Given the description of an element on the screen output the (x, y) to click on. 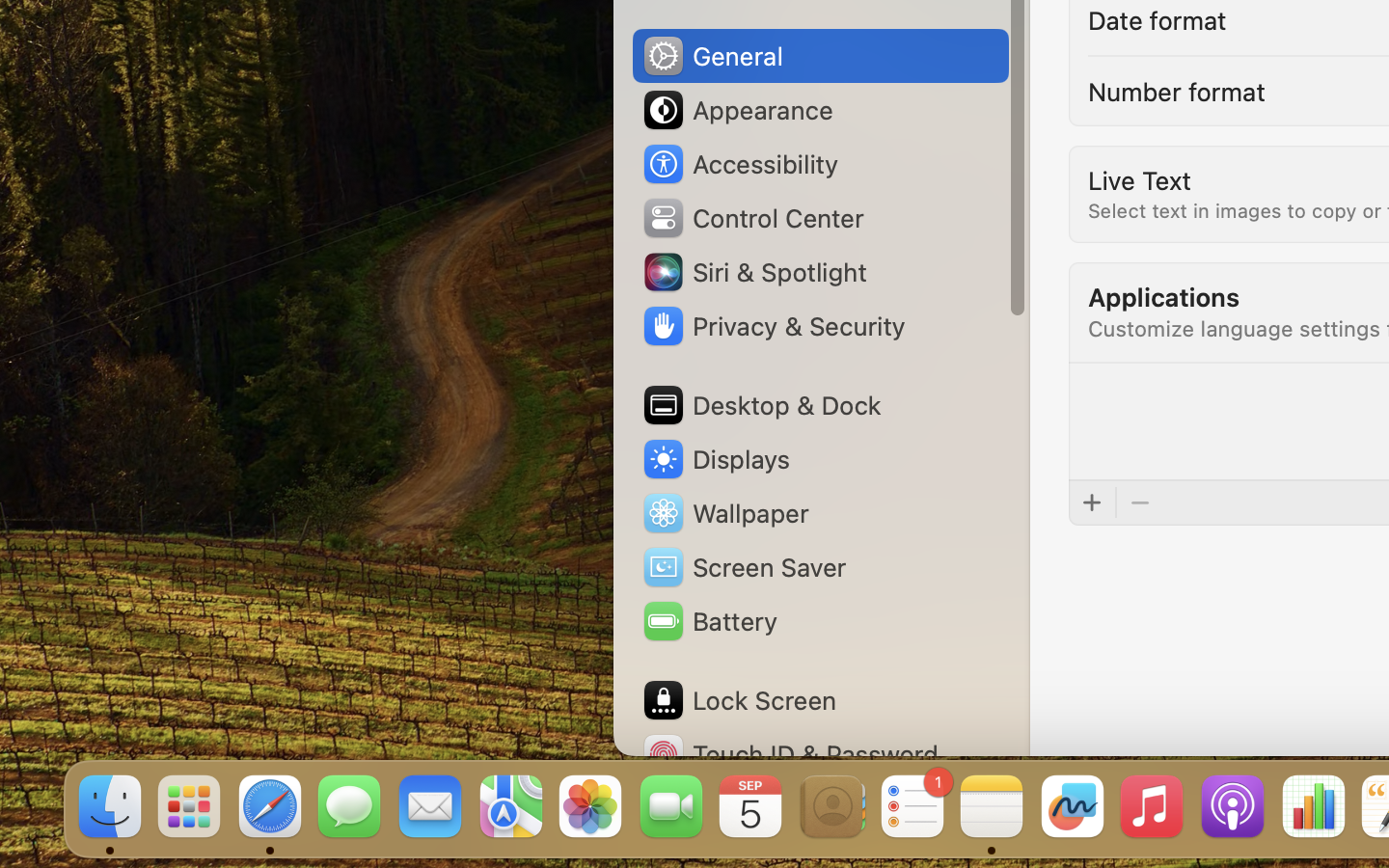
Accessibility Element type: AXStaticText (739, 163)
